Given the description of an element on the screen output the (x, y) to click on. 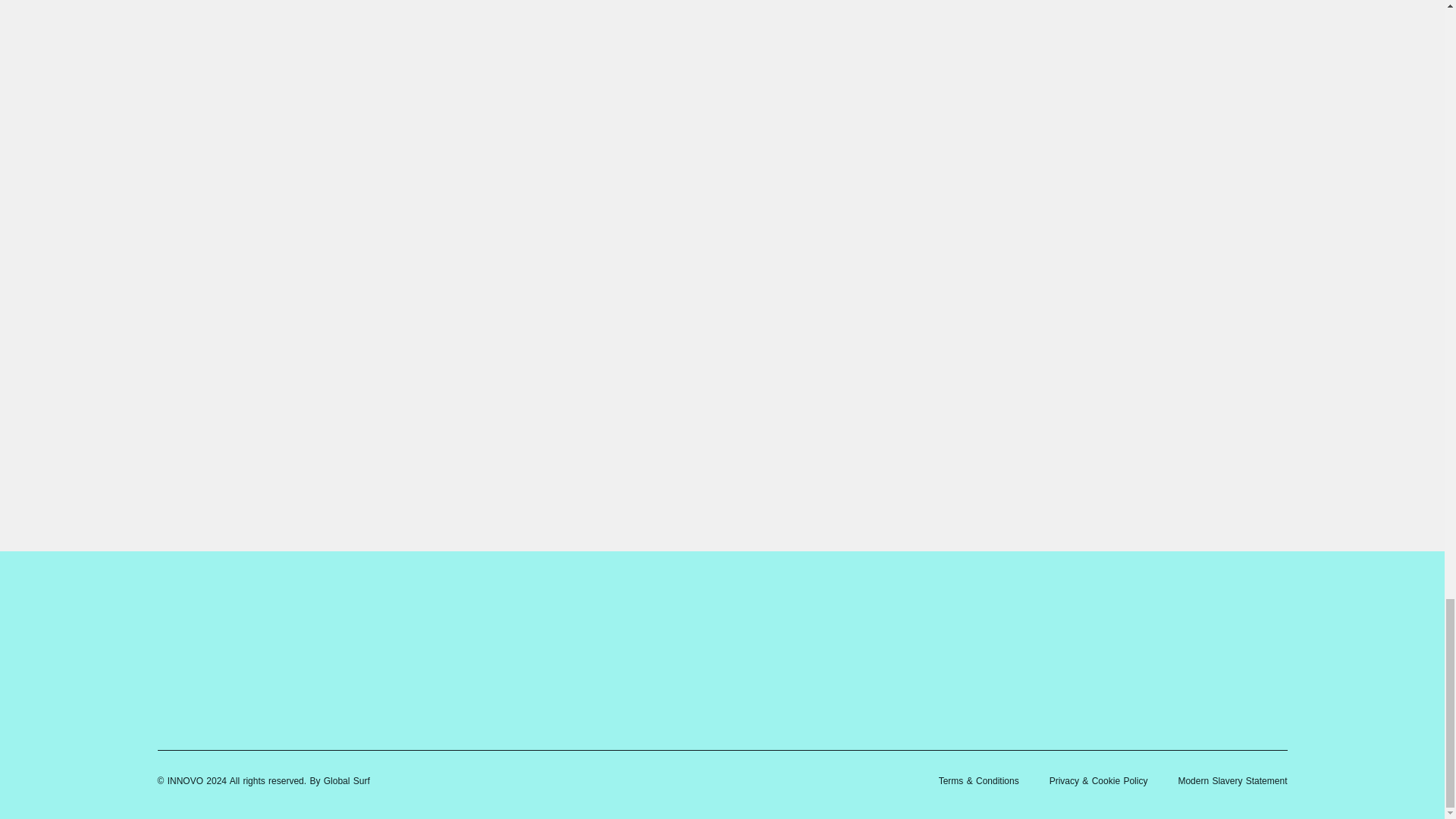
Modern Slavery Statement (1232, 780)
